Given the description of an element on the screen output the (x, y) to click on. 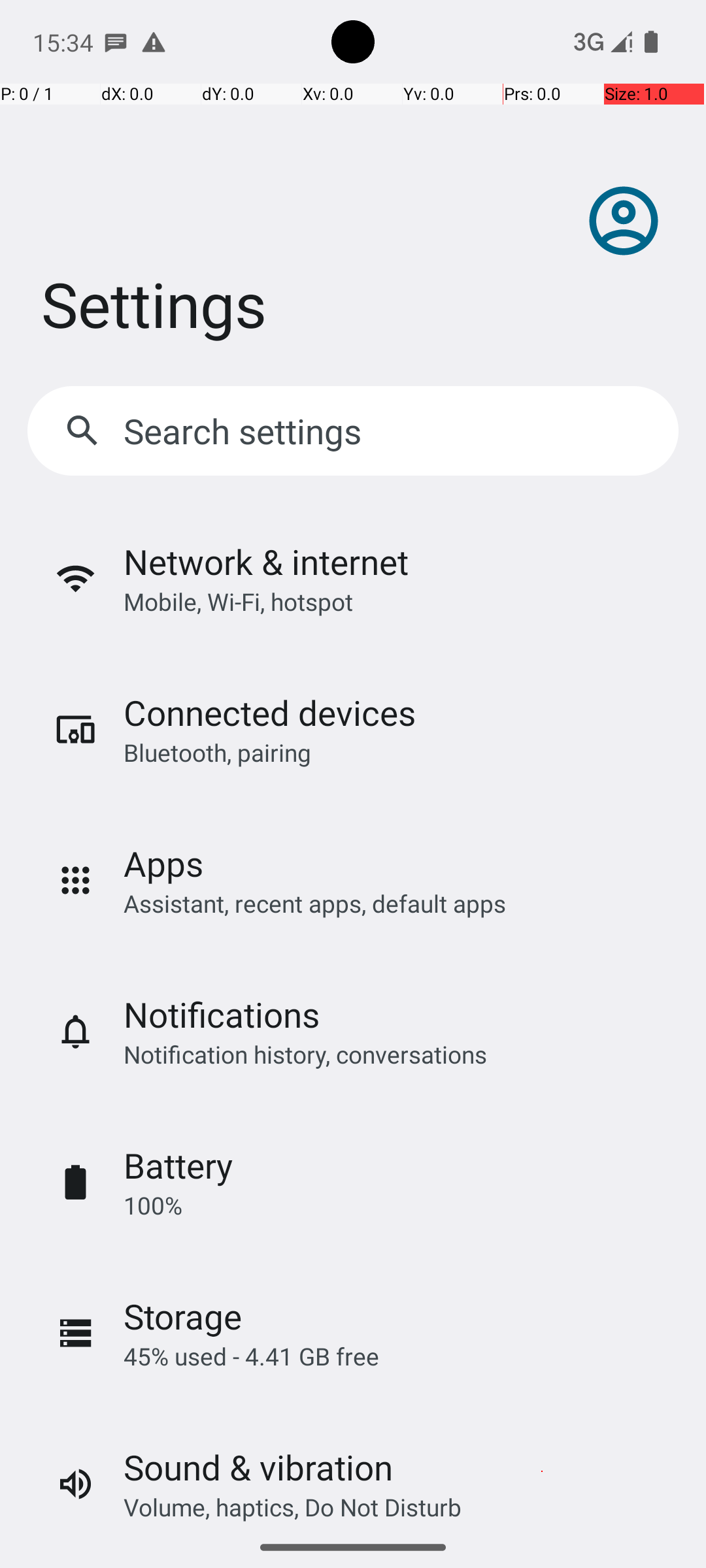
Profile picture, double tap to open Google Account Element type: android.widget.ImageView (623, 220)
Search settings Element type: android.widget.TextView (245, 430)
Network & internet Element type: android.widget.TextView (265, 561)
Mobile, Wi‑Fi, hotspot Element type: android.widget.TextView (238, 601)
Connected devices Element type: android.widget.TextView (269, 712)
Bluetooth, pairing Element type: android.widget.TextView (217, 751)
Apps Element type: android.widget.TextView (163, 863)
Assistant, recent apps, default apps Element type: android.widget.TextView (314, 902)
Notifications Element type: android.widget.TextView (221, 1014)
Notification history, conversations Element type: android.widget.TextView (305, 1053)
Battery Element type: android.widget.TextView (178, 1165)
100% Element type: android.widget.TextView (152, 1204)
Storage Element type: android.widget.TextView (182, 1315)
45% used - 4.41 GB free Element type: android.widget.TextView (251, 1355)
Sound & vibration Element type: android.widget.TextView (257, 1466)
Volume, haptics, Do Not Disturb Element type: android.widget.TextView (292, 1506)
